Given the description of an element on the screen output the (x, y) to click on. 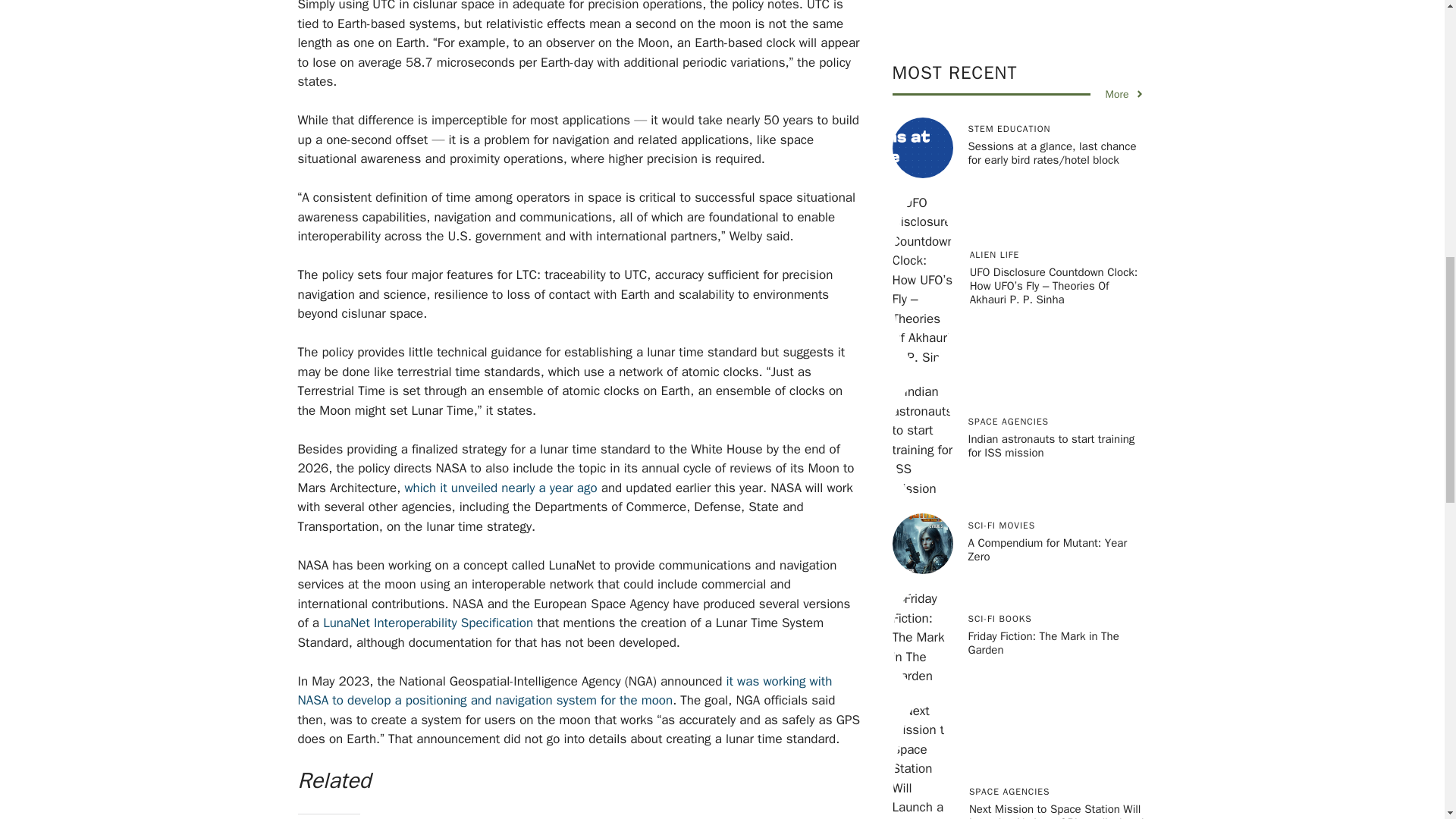
A Compendium for Mutant: Year Zero (921, 168)
